Given the description of an element on the screen output the (x, y) to click on. 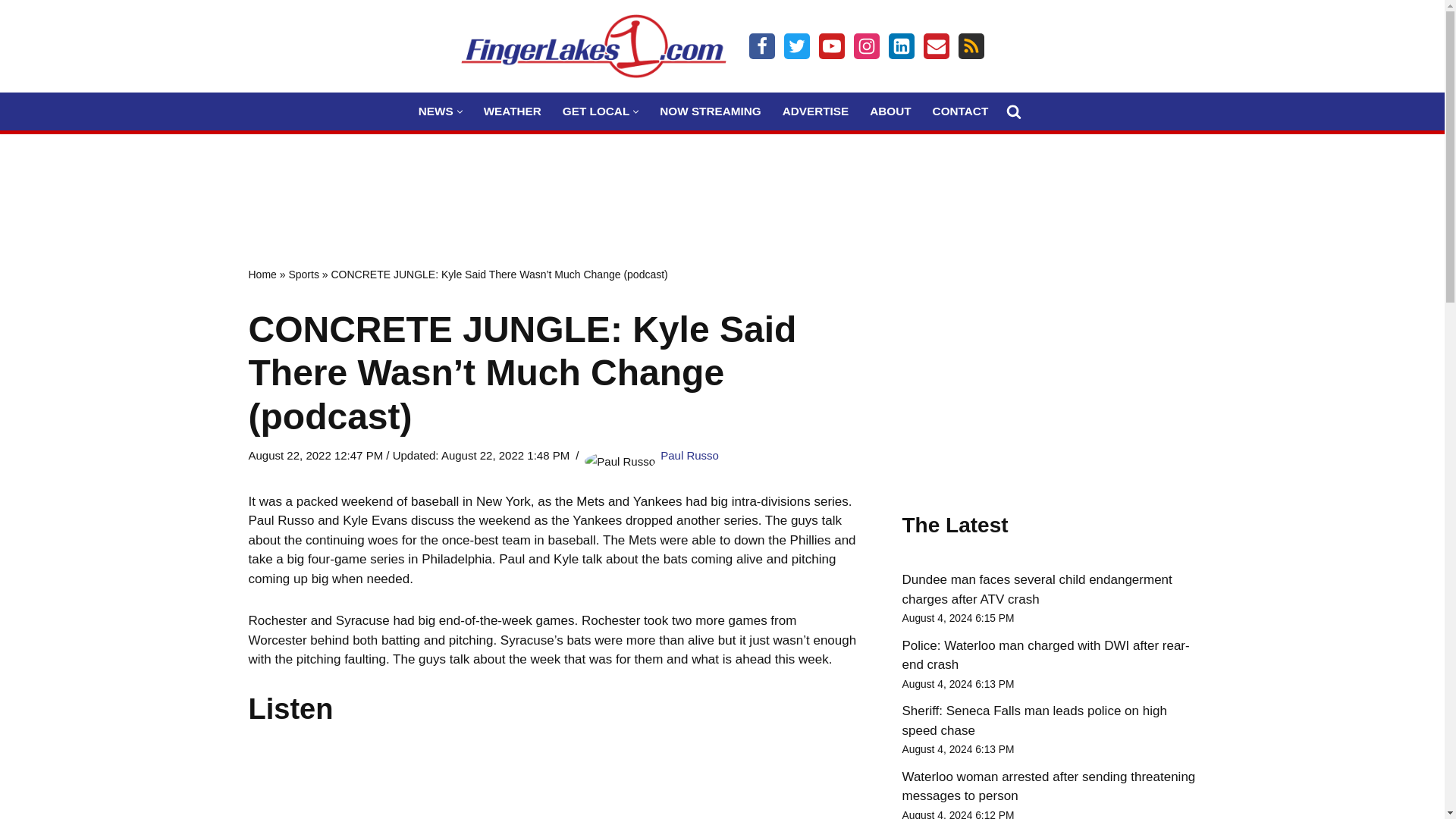
Email Us (936, 45)
LinkIn (901, 45)
Posts by Paul Russo (690, 454)
Feed (971, 45)
WEATHER (512, 111)
NOW STREAMING (709, 111)
NEWS (435, 111)
CONTACT (960, 111)
ABOUT (890, 111)
GET LOCAL (595, 111)
